Given the description of an element on the screen output the (x, y) to click on. 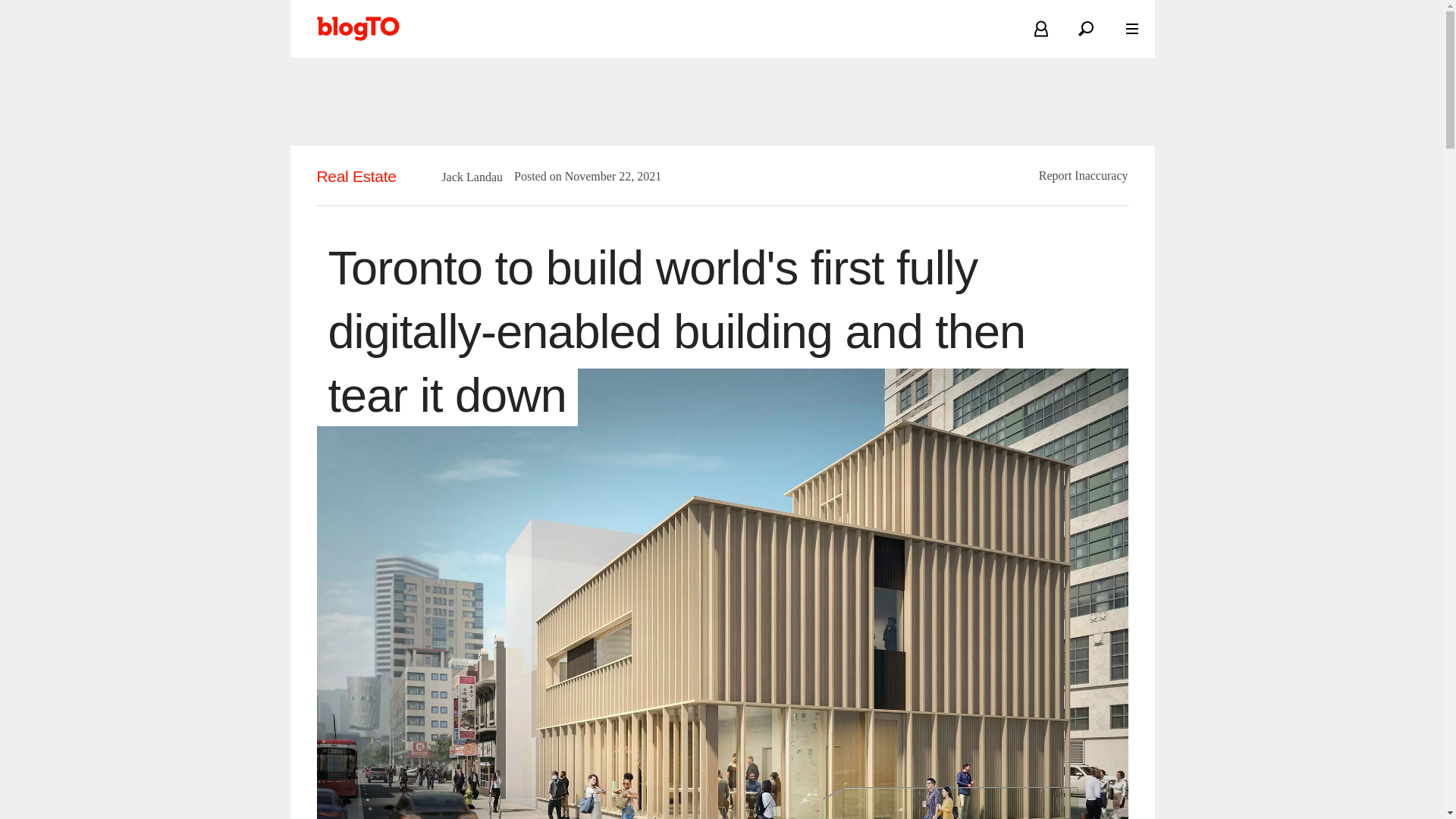
3rd party ad content (721, 101)
2021-11-22T13:02:51 (606, 175)
